Given the description of an element on the screen output the (x, y) to click on. 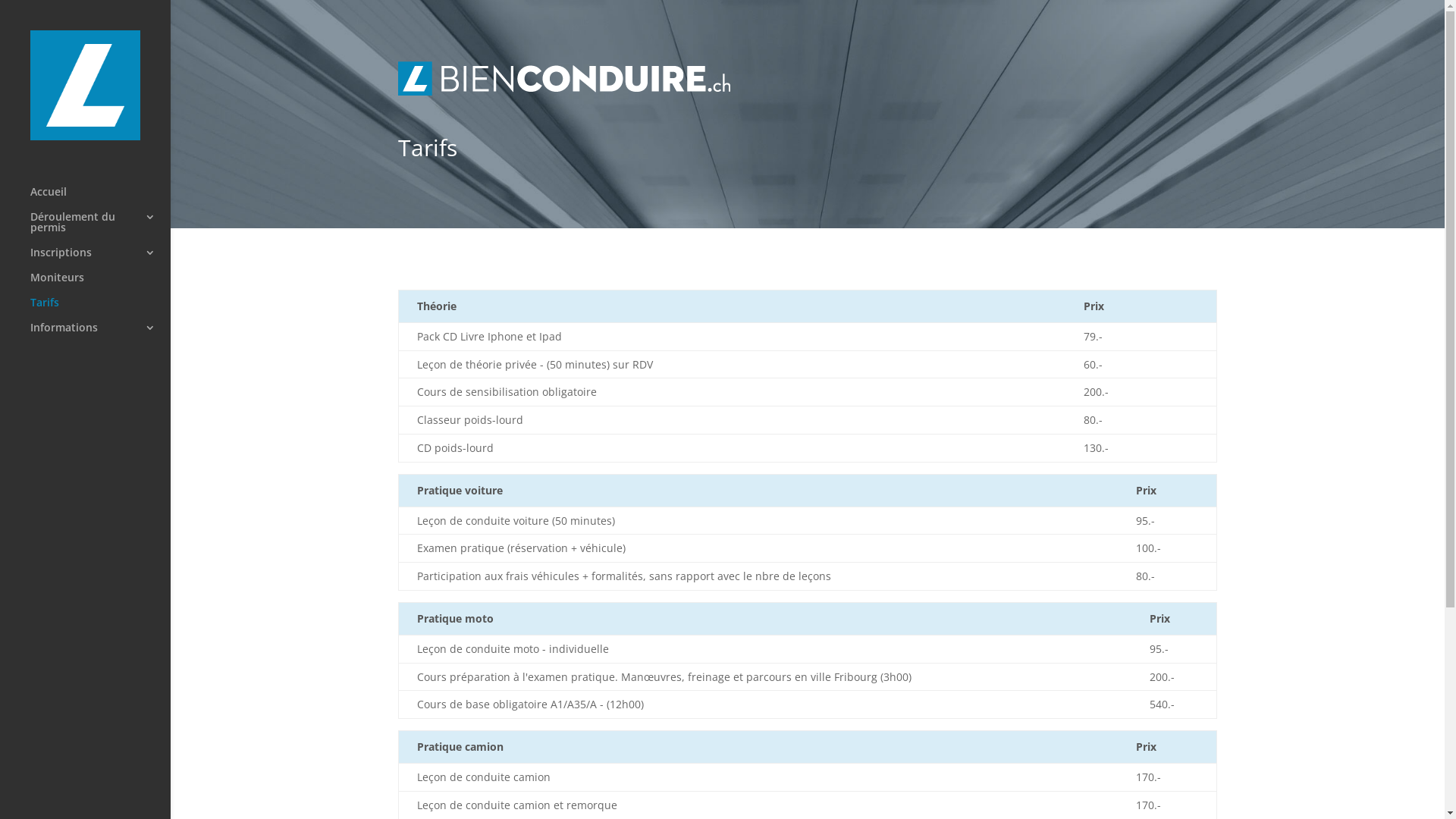
Moniteurs Element type: text (100, 284)
Tarifs Element type: text (100, 309)
logo Element type: hover (564, 78)
Informations Element type: text (100, 334)
Accueil Element type: text (100, 198)
Inscriptions Element type: text (100, 259)
